Given the description of an element on the screen output the (x, y) to click on. 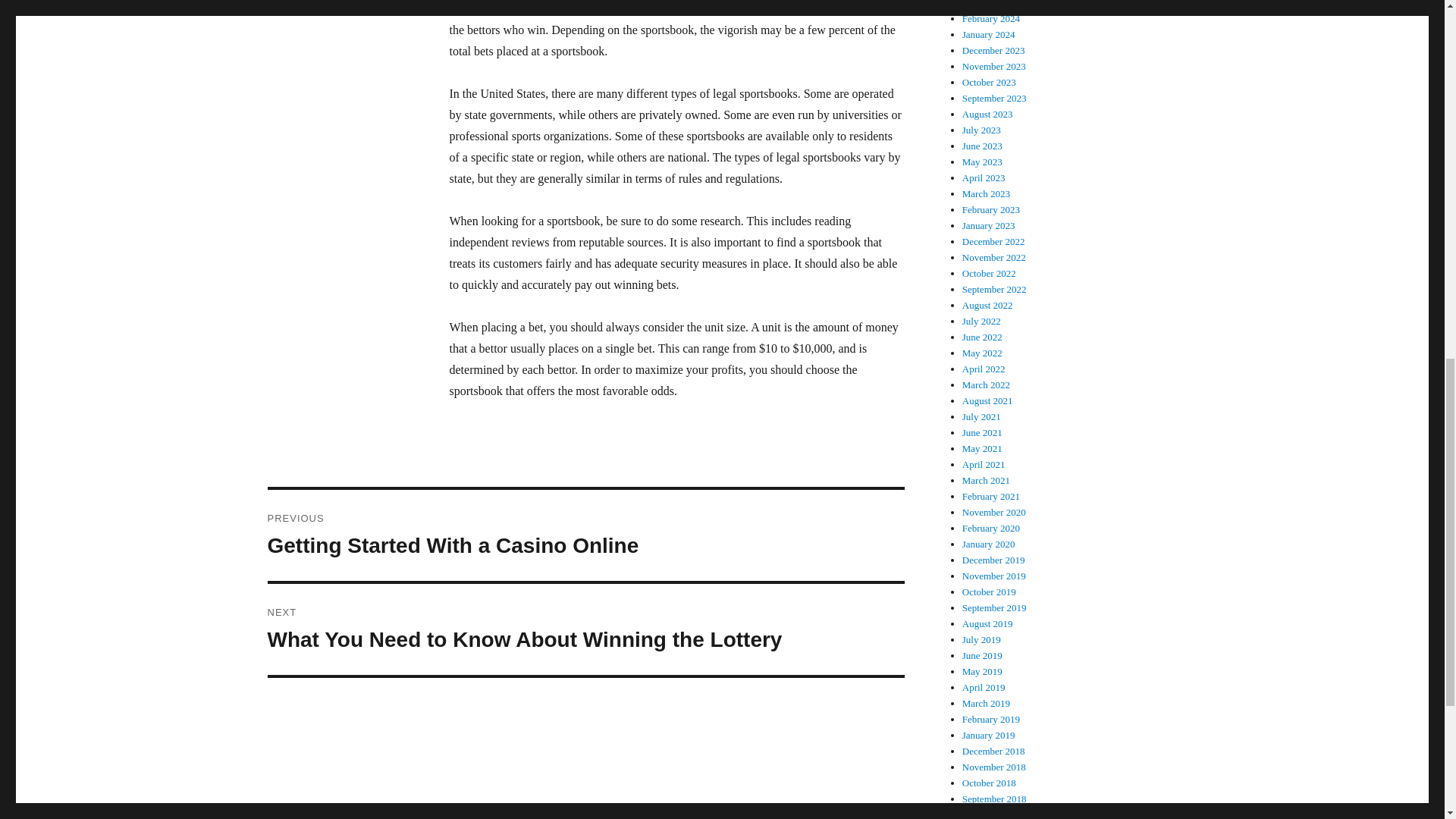
April 2023 (984, 177)
May 2023 (982, 161)
December 2022 (993, 241)
March 2023 (986, 193)
February 2024 (991, 18)
January 2023 (988, 225)
November 2023 (585, 534)
January 2024 (994, 66)
